Given the description of an element on the screen output the (x, y) to click on. 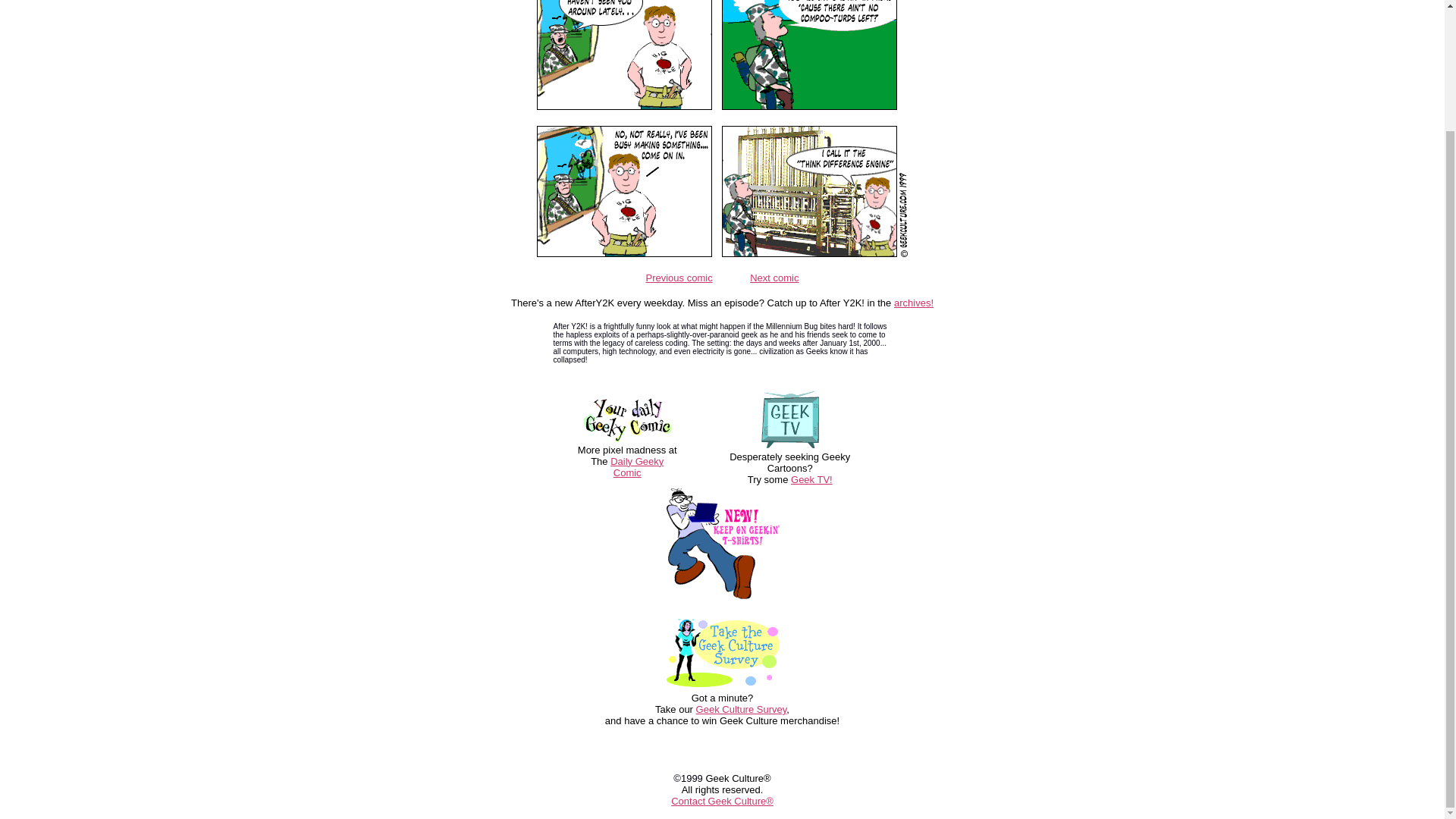
Next comic (773, 277)
Daily Geeky Comic (636, 466)
Previous comic (679, 277)
Geek TV! (811, 479)
archives! (913, 302)
Geek Culture Survey (741, 707)
